Given the description of an element on the screen output the (x, y) to click on. 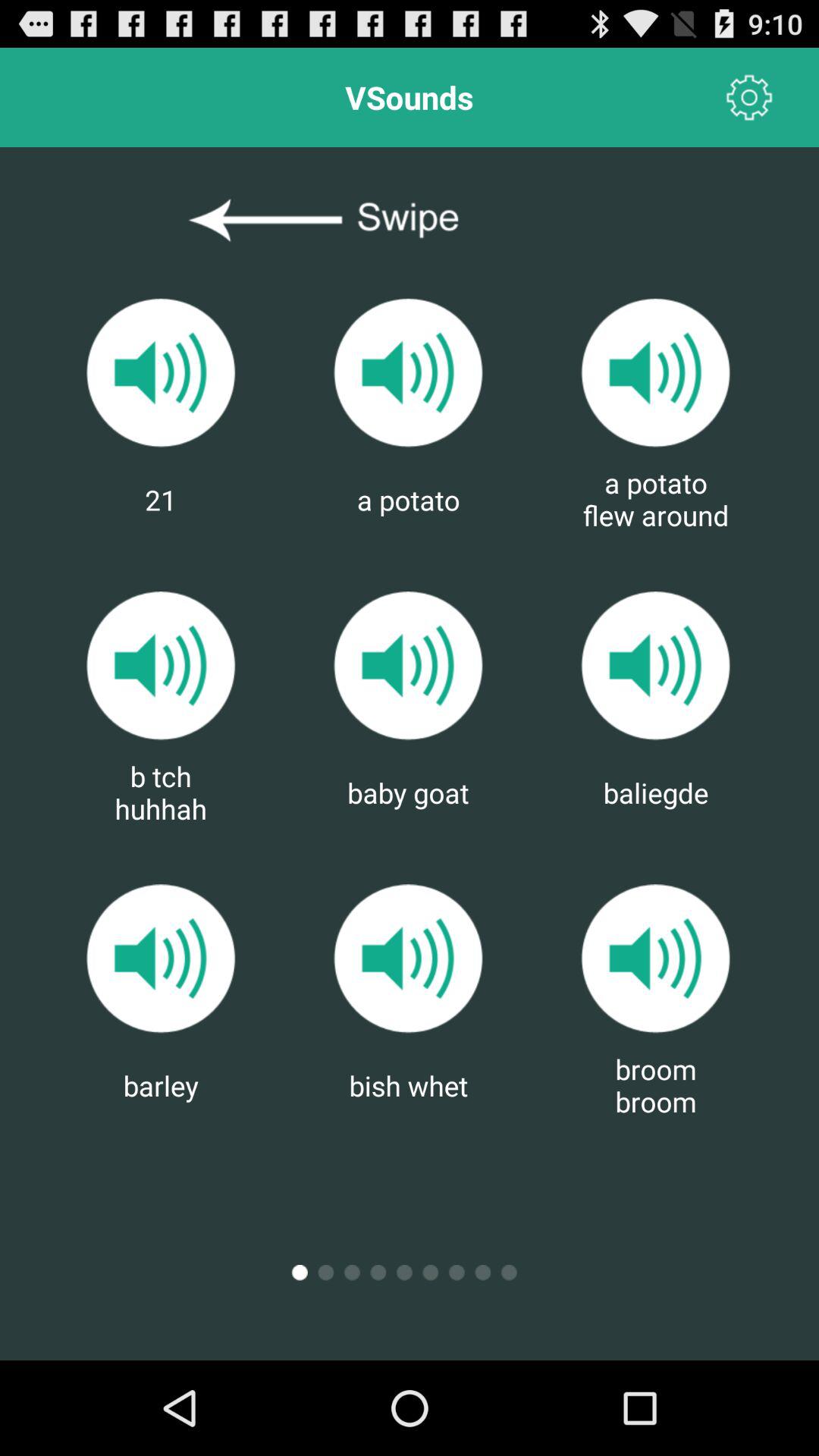
turn off the item below vsounds icon (409, 220)
